Given the description of an element on the screen output the (x, y) to click on. 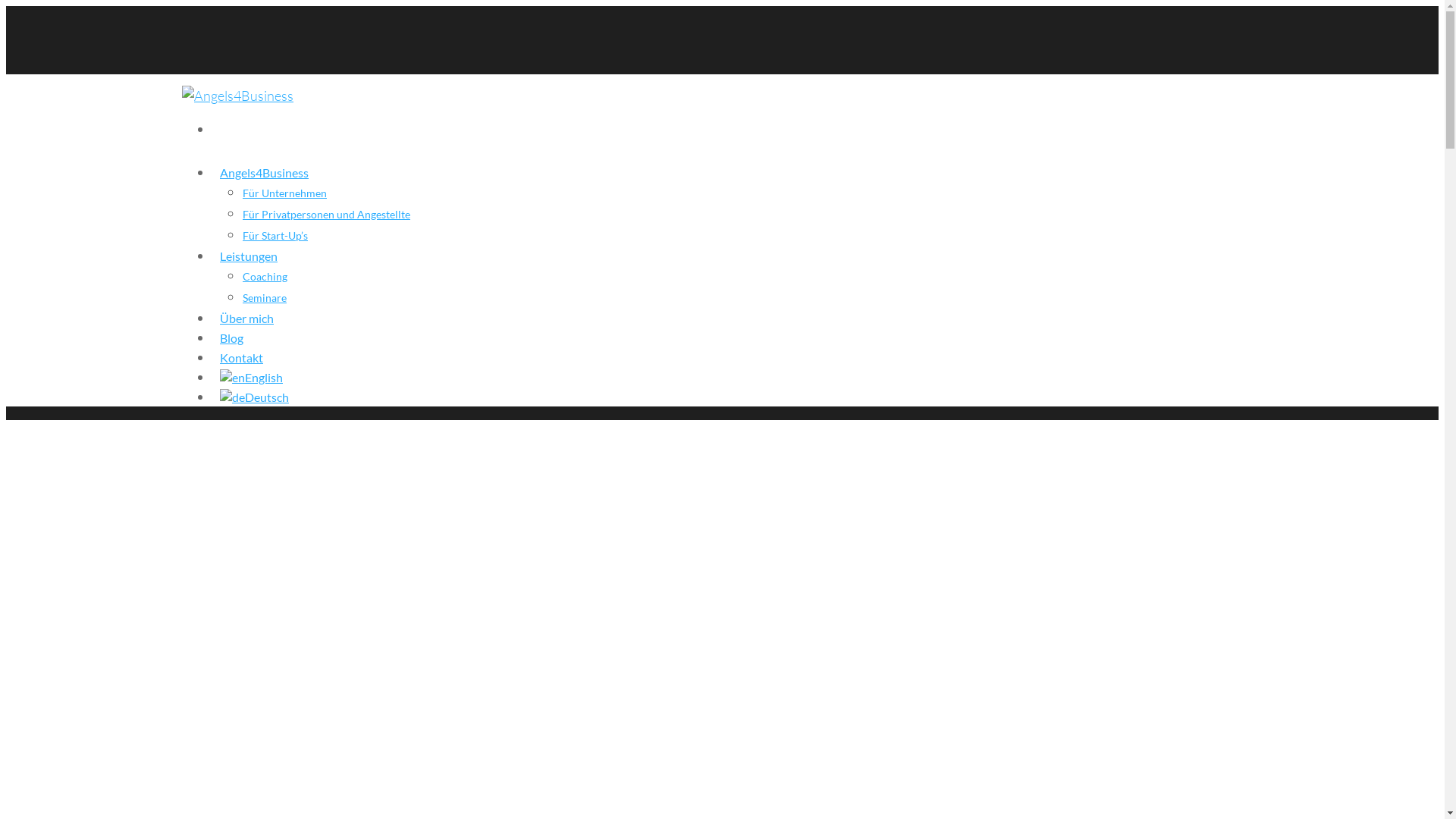
English Element type: text (250, 382)
Deutsch Element type: text (253, 402)
Leistungen Element type: text (248, 261)
Kontakt Element type: text (241, 362)
Angels4Business Element type: text (263, 177)
Coaching Element type: text (264, 275)
Seminare Element type: text (264, 297)
Blog Element type: text (231, 343)
English Element type: hover (231, 377)
Deutsch Element type: hover (231, 397)
